Given the description of an element on the screen output the (x, y) to click on. 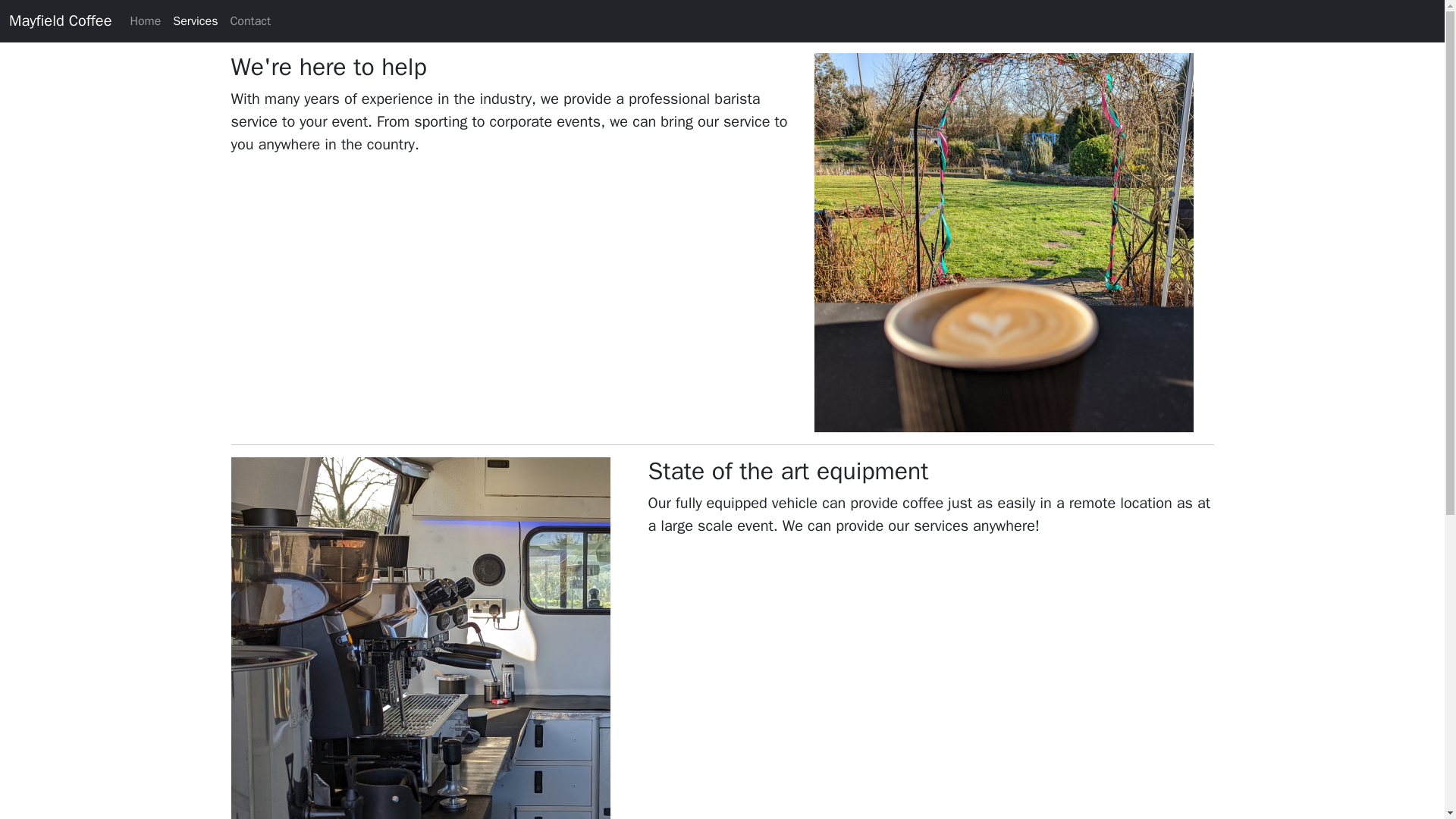
Contact (250, 20)
Home (145, 20)
Mayfield Coffee (60, 20)
Services (195, 20)
